Given the description of an element on the screen output the (x, y) to click on. 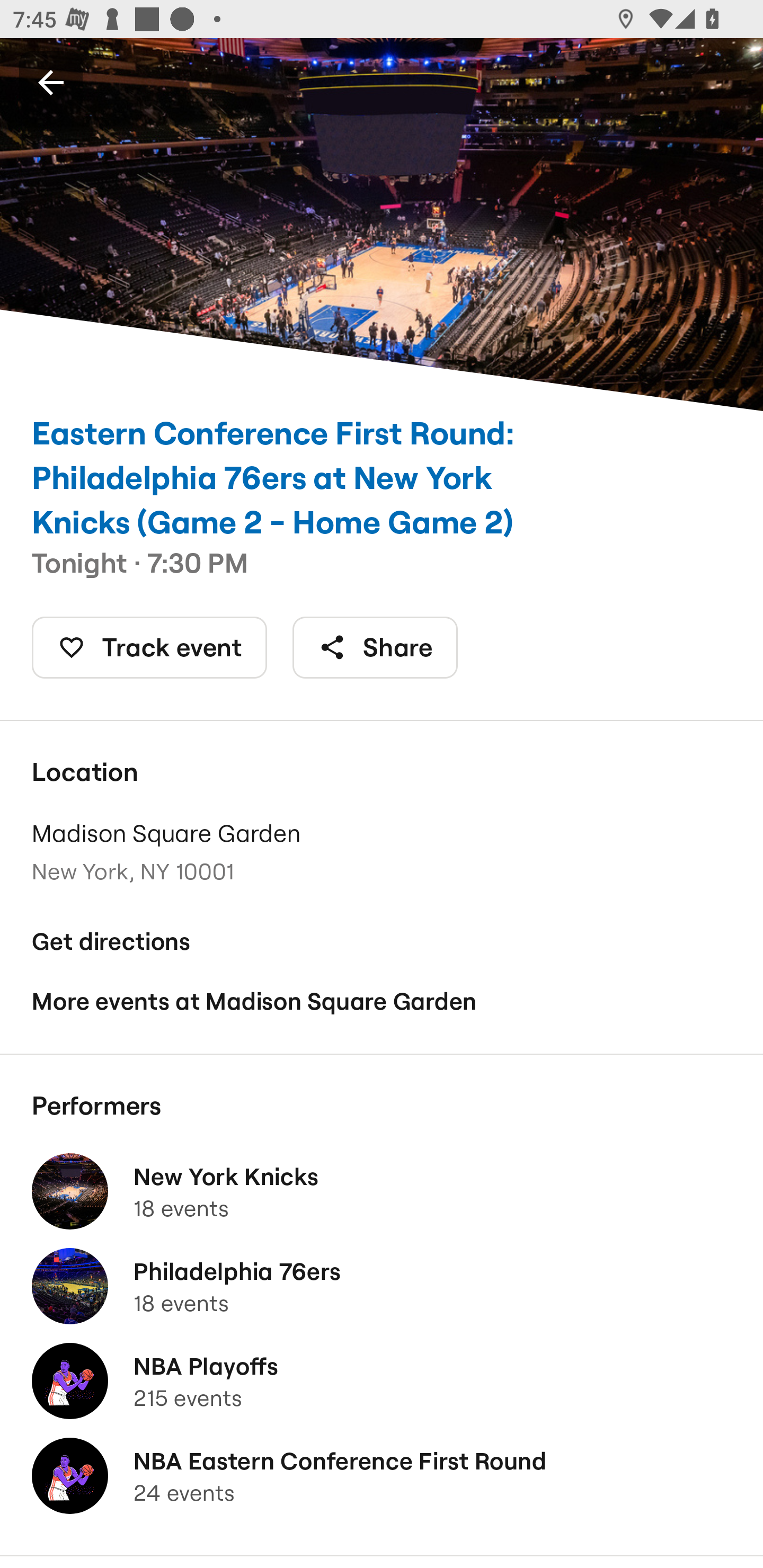
Back (50, 81)
Track event (149, 647)
Share (374, 647)
Get directions (381, 941)
More events at Madison Square Garden (381, 1001)
New York Knicks 18 events (381, 1191)
Philadelphia 76ers 18 events (381, 1286)
NBA Playoffs 215 events (381, 1381)
NBA Eastern Conference First Round 24 events (381, 1476)
